Given the description of an element on the screen output the (x, y) to click on. 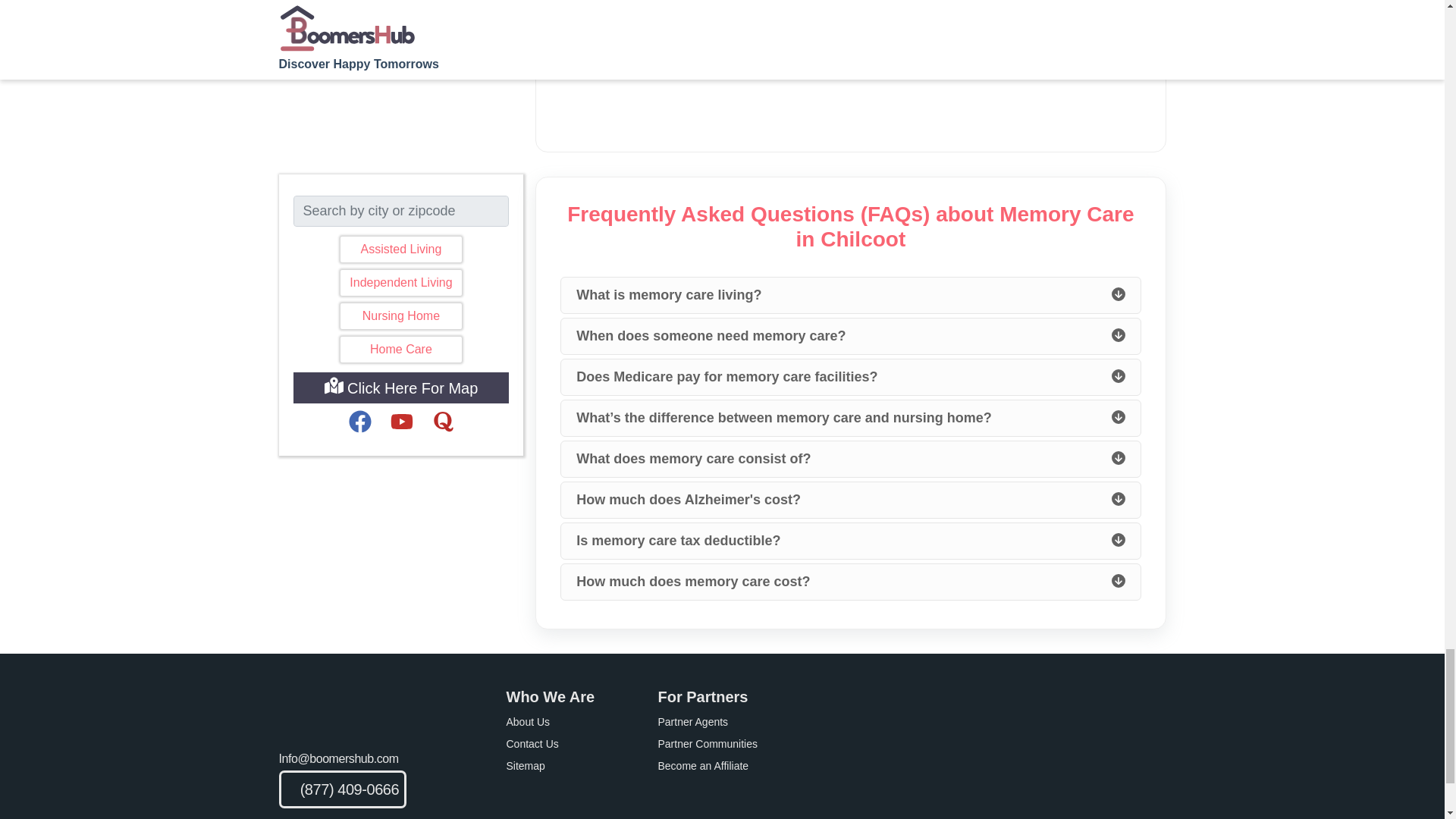
Its Time for Memory Care- 7 Signs to Decide (851, 7)
